Given the description of an element on the screen output the (x, y) to click on. 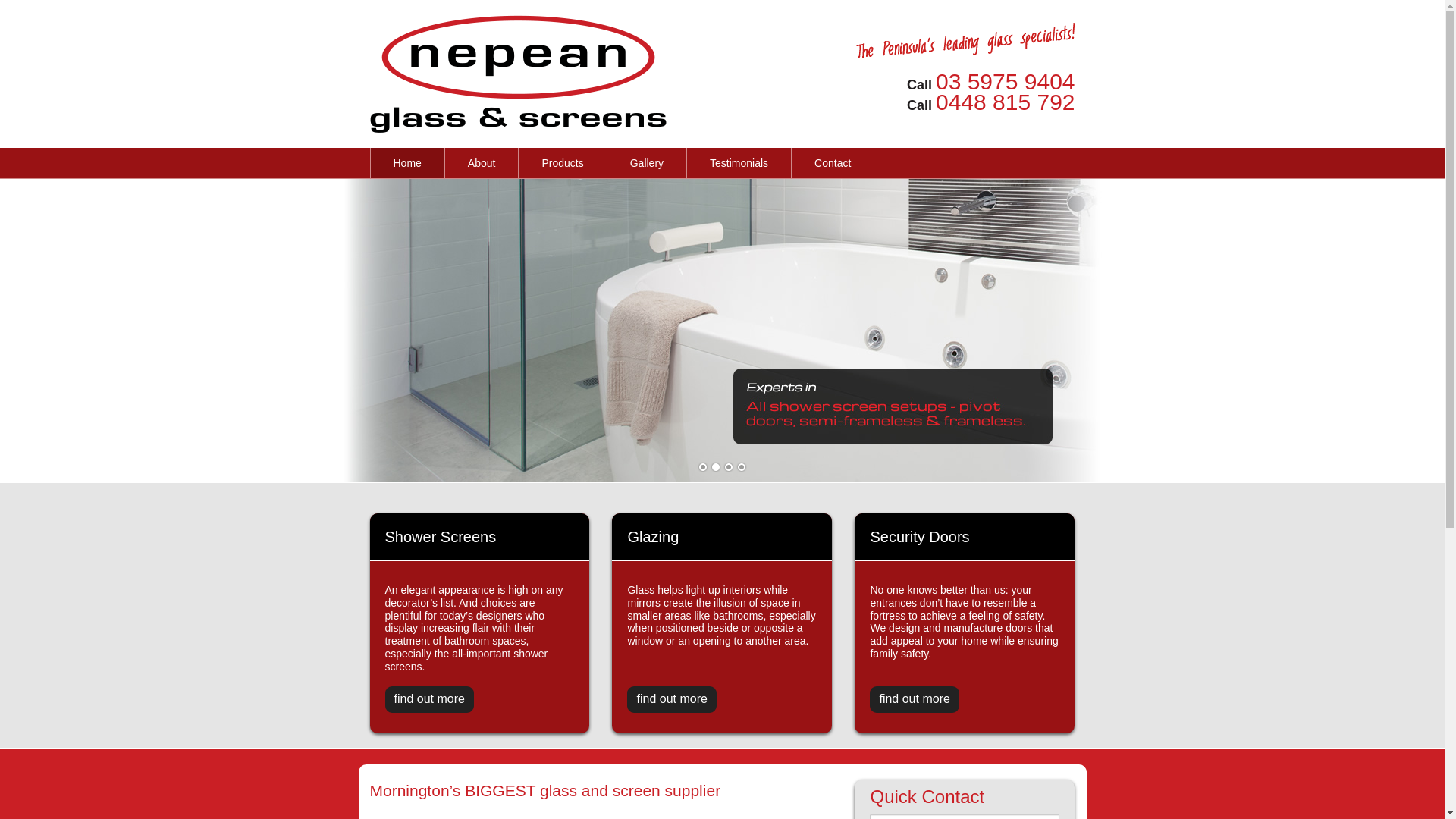
find out more Element type: text (429, 699)
0448 815 792 Element type: text (1005, 101)
Products Element type: text (561, 162)
find out more Element type: text (913, 699)
03 5975 9404 Element type: text (1005, 81)
Contact Element type: text (832, 162)
find out more Element type: text (671, 699)
Testimonials Element type: text (738, 162)
Home Element type: text (406, 162)
Gallery Element type: text (646, 162)
About Element type: text (481, 162)
